Given the description of an element on the screen output the (x, y) to click on. 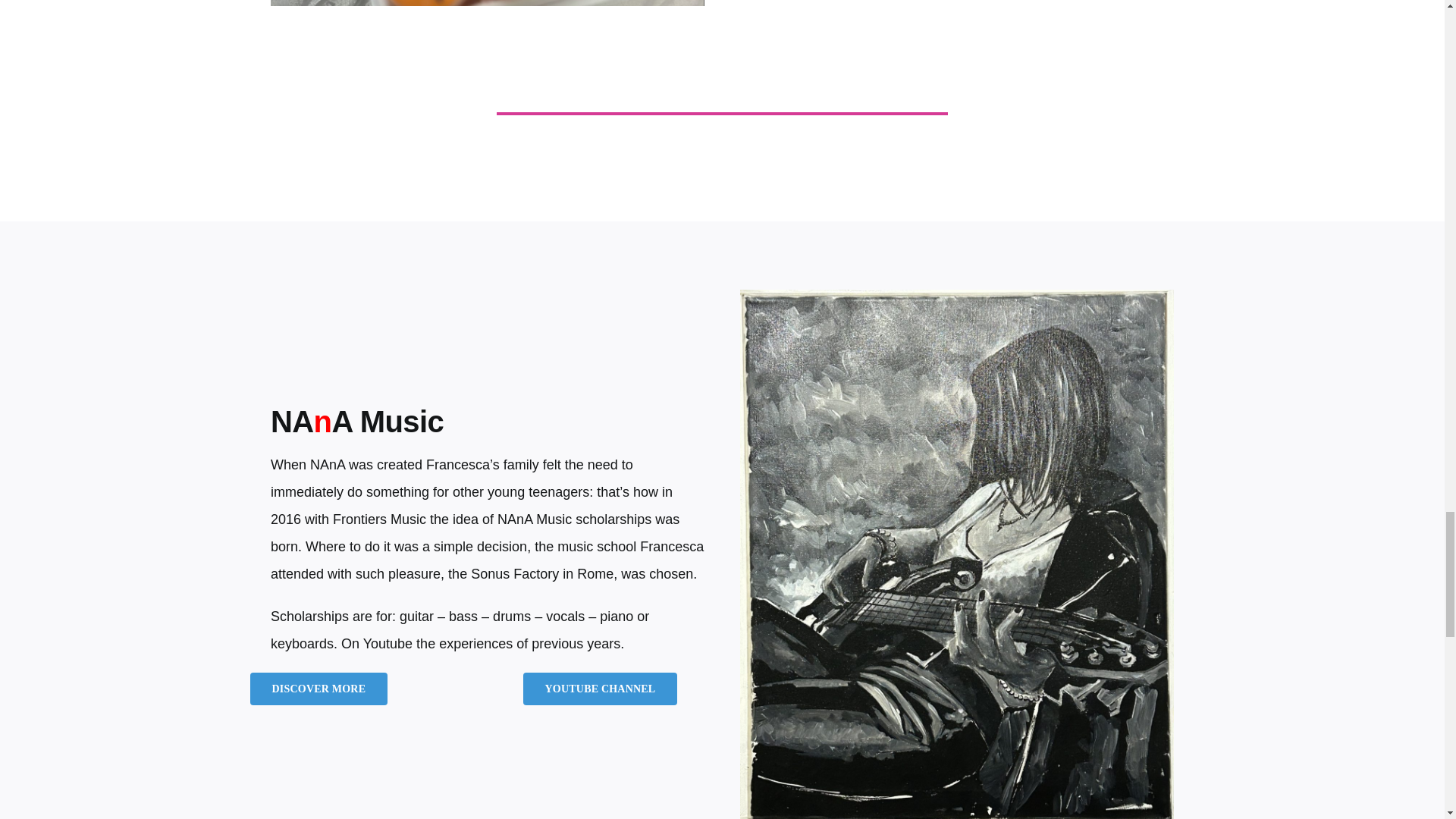
FotoFiale (487, 2)
